Given the description of an element on the screen output the (x, y) to click on. 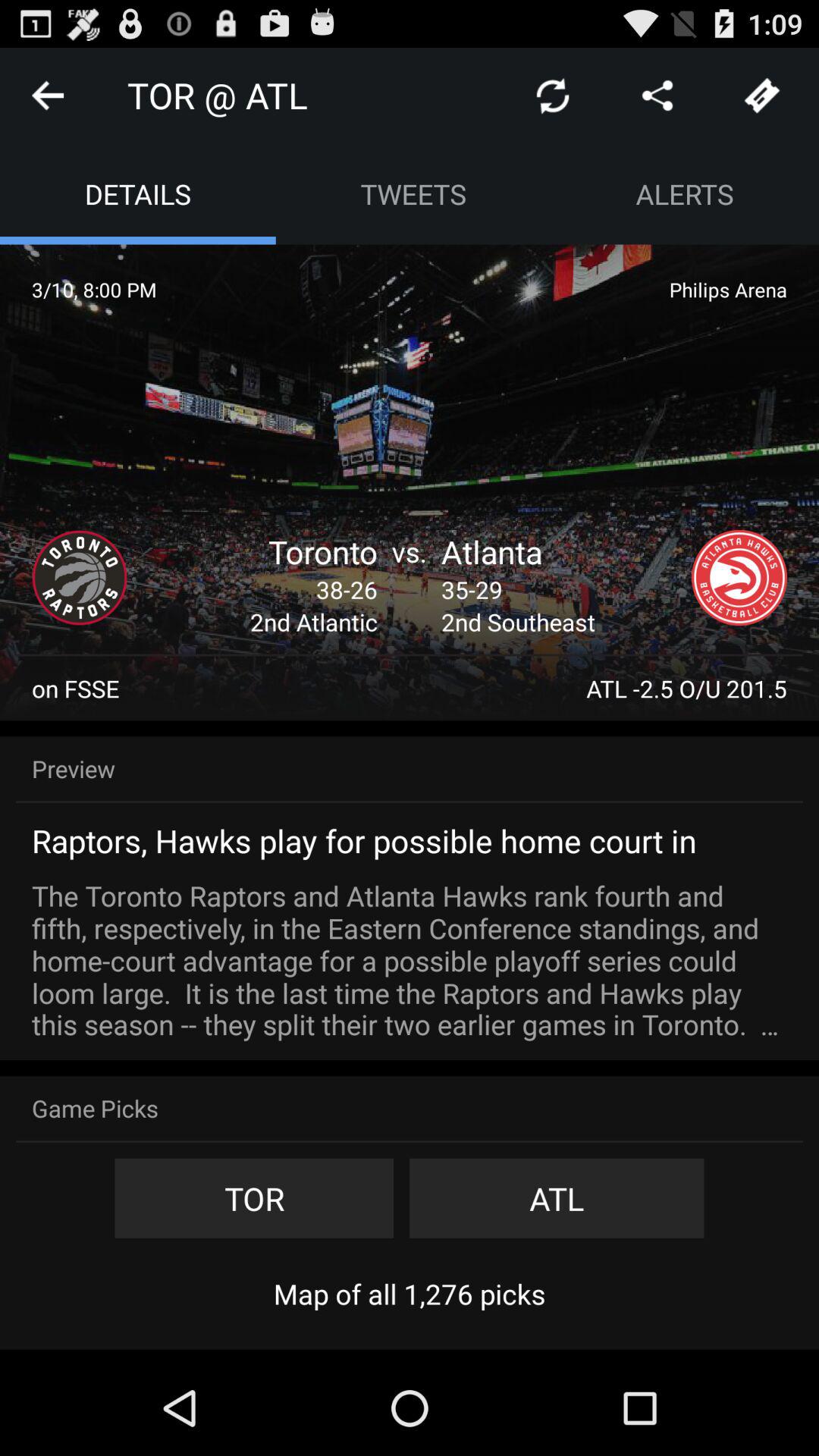
click the item to the left of alerts (413, 193)
